Given the description of an element on the screen output the (x, y) to click on. 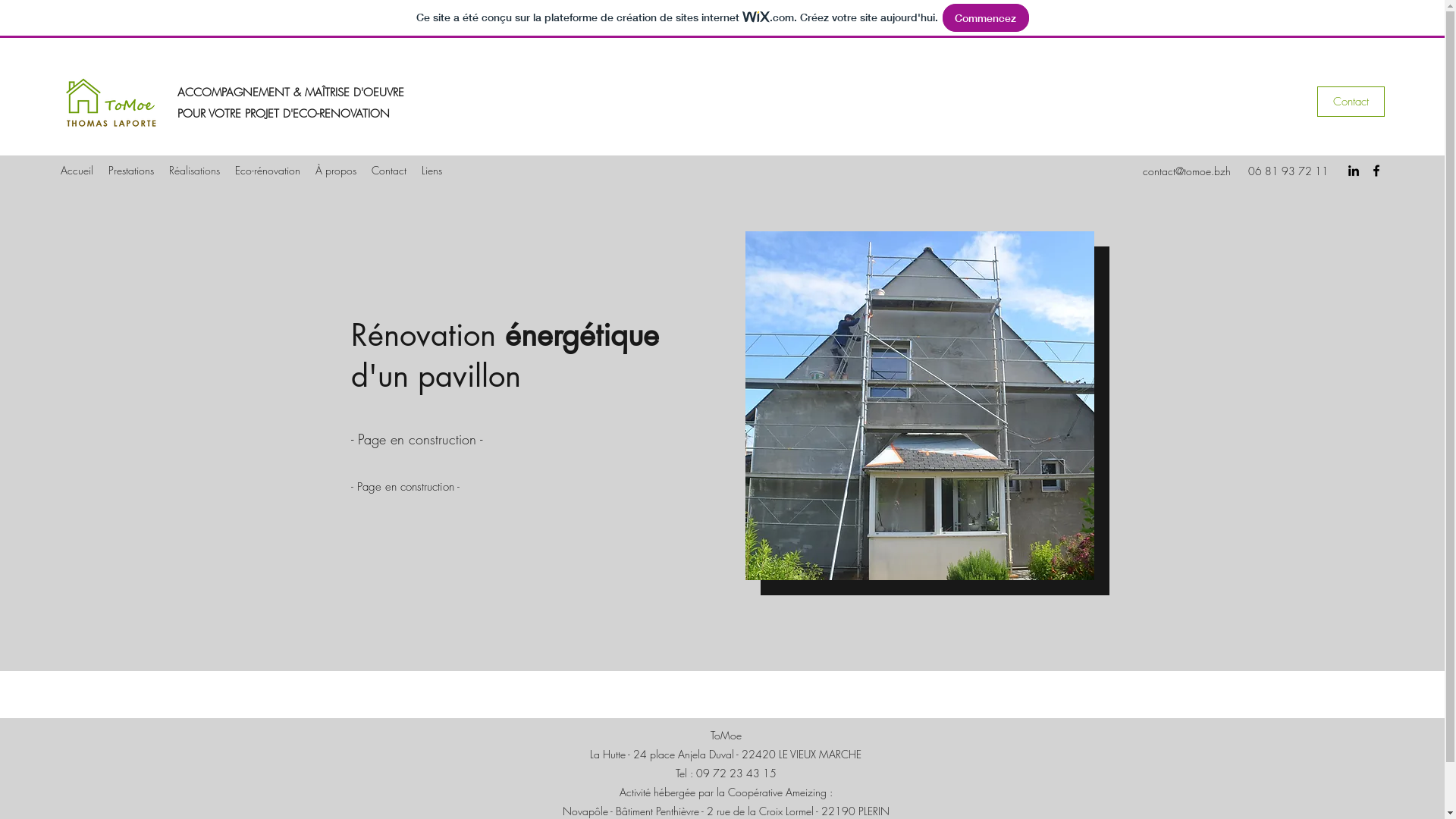
Contact Element type: text (389, 170)
Contact Element type: text (1350, 101)
Prestations Element type: text (130, 170)
contact@tomoe.bzh Element type: text (1186, 170)
Liens Element type: text (431, 170)
Accueil Element type: text (76, 170)
